Given the description of an element on the screen output the (x, y) to click on. 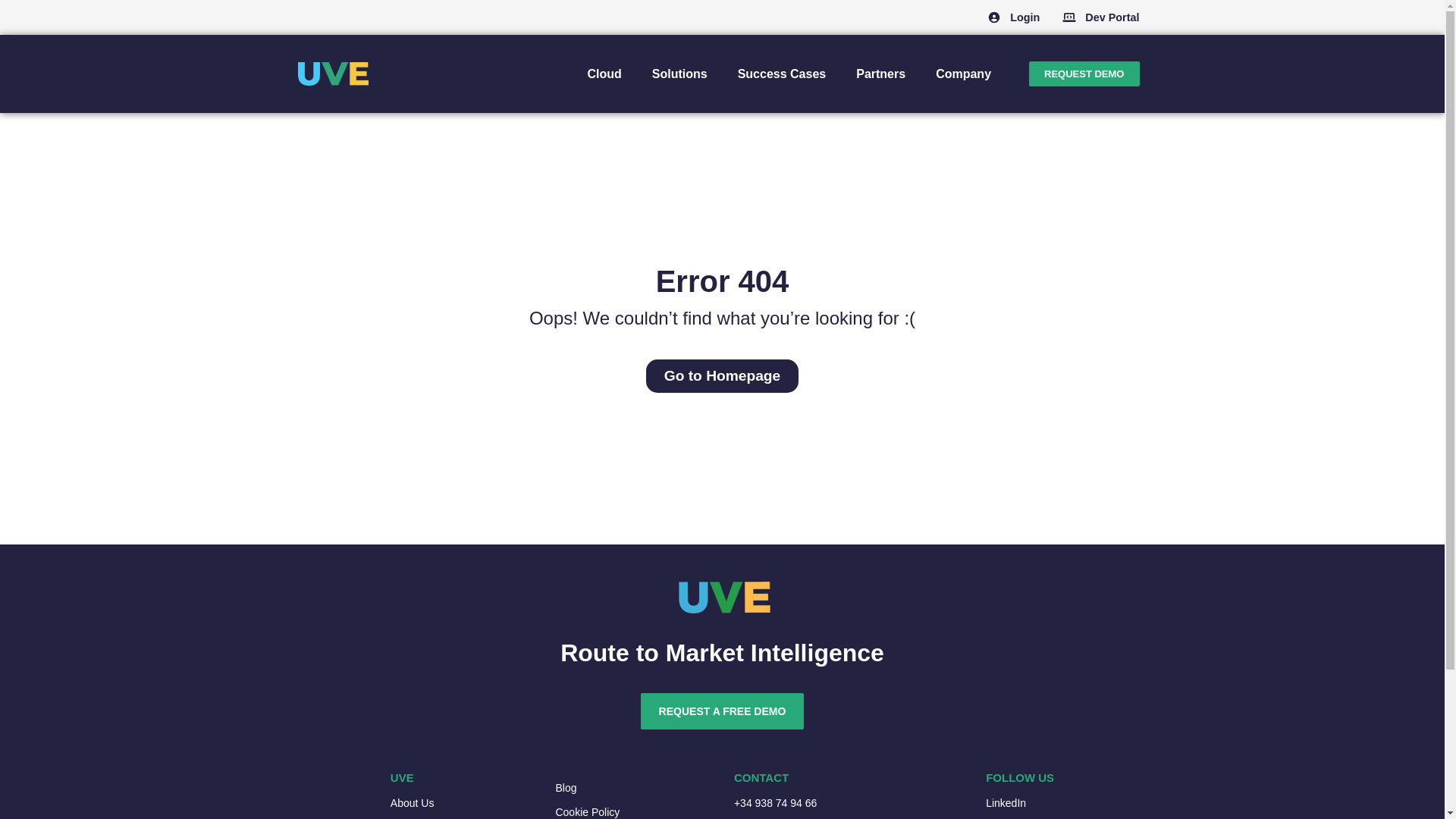
Click to visit our Partners Program (880, 73)
Click on one of the About UVE options below (963, 73)
Click on one of the Solutions options below (679, 73)
Click on one of the Platform options below (604, 73)
Cloud (604, 73)
Success Cases (781, 73)
Login (1024, 17)
Dev Portal (1112, 17)
Solutions (679, 73)
Partners (880, 73)
Company (963, 73)
Click to visit Success Cases (781, 73)
